Given the description of an element on the screen output the (x, y) to click on. 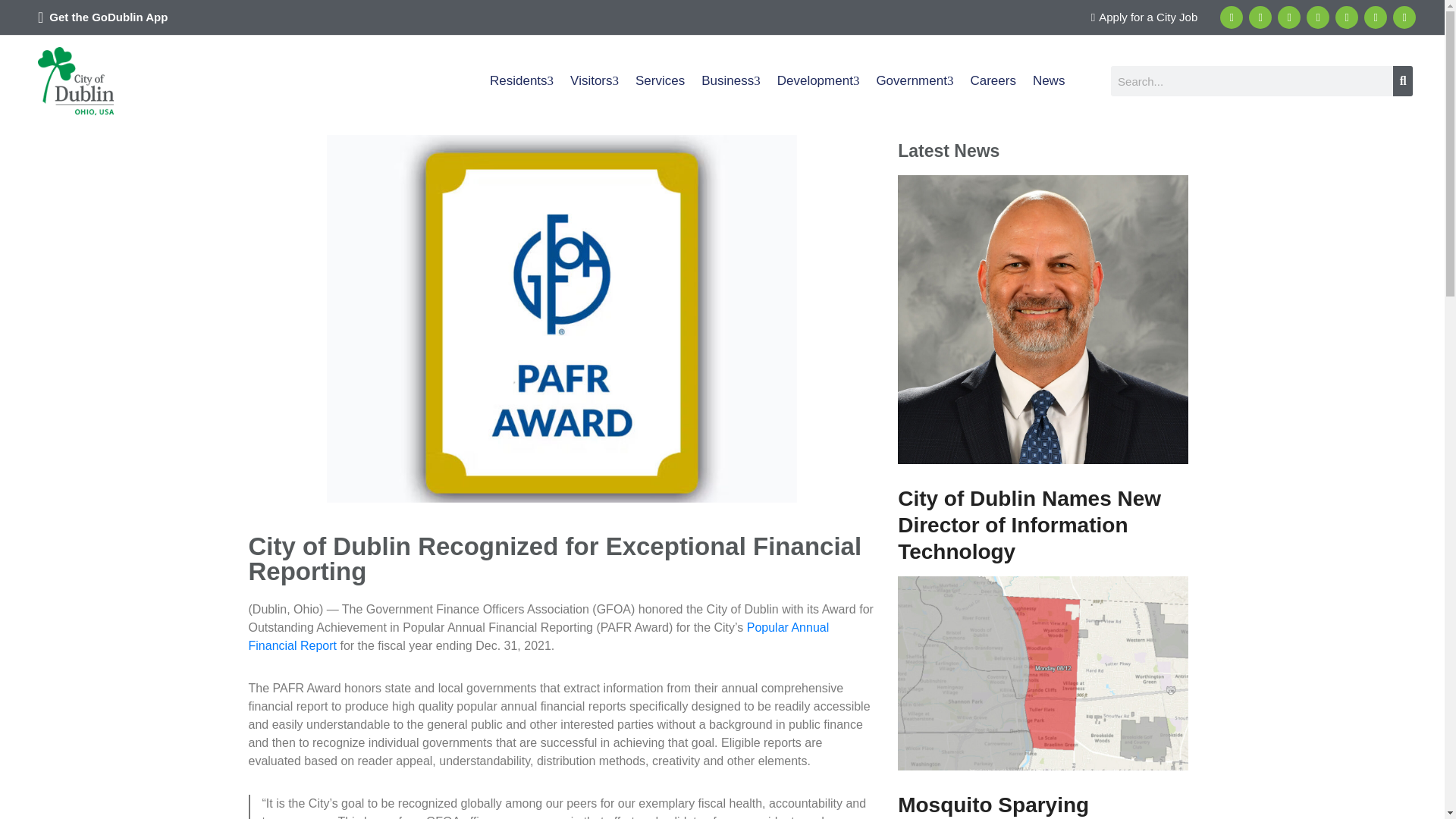
Apply for a City Job (1144, 17)
Get the GoDublin App (108, 16)
Residents (521, 80)
